Given the description of an element on the screen output the (x, y) to click on. 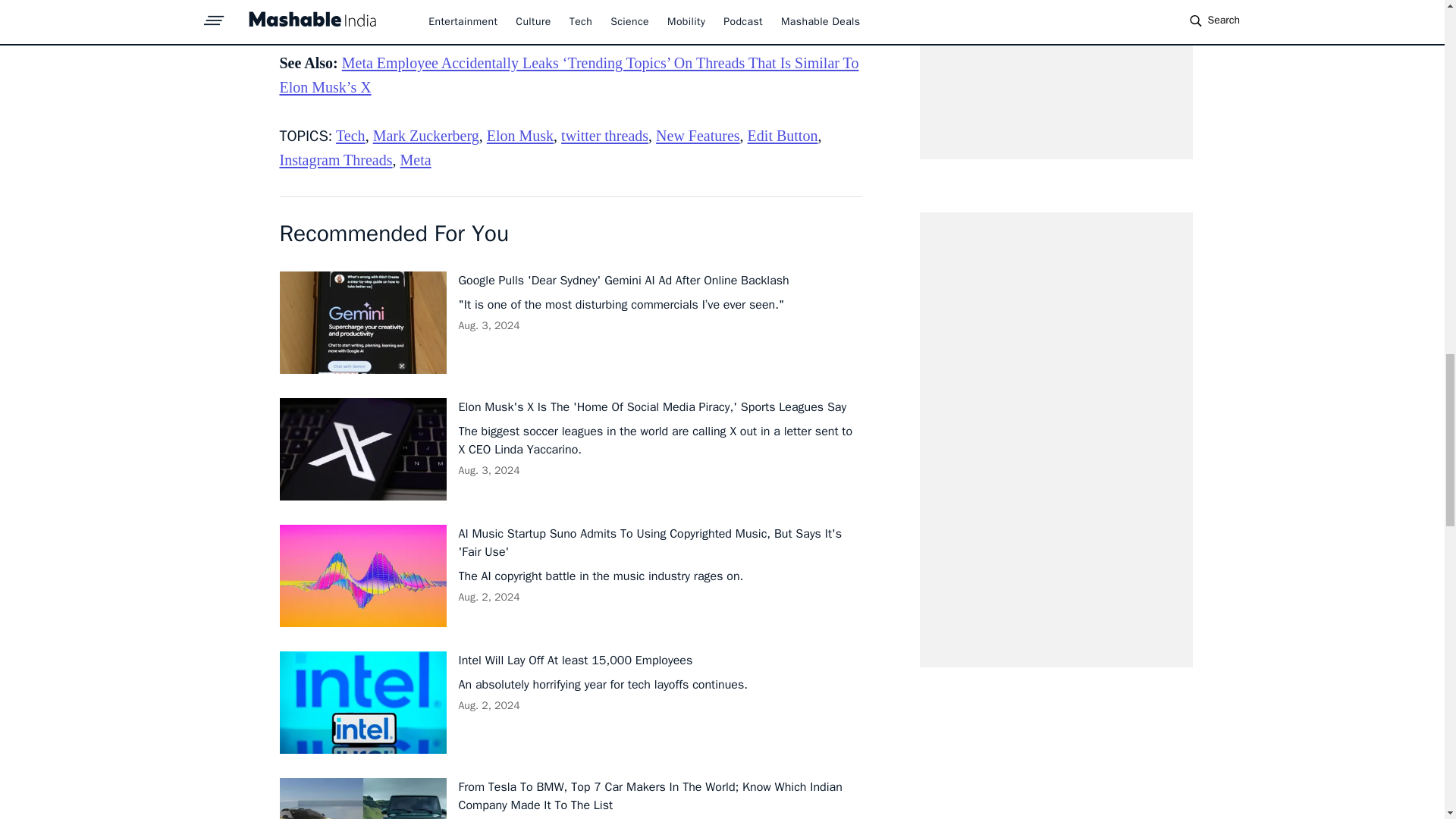
Edit Button (783, 135)
Instagram Threads (335, 159)
twitter threads (603, 135)
Mark Zuckerberg (425, 135)
Elon Musk (519, 135)
Tech (350, 135)
New Features (697, 135)
